Given the description of an element on the screen output the (x, y) to click on. 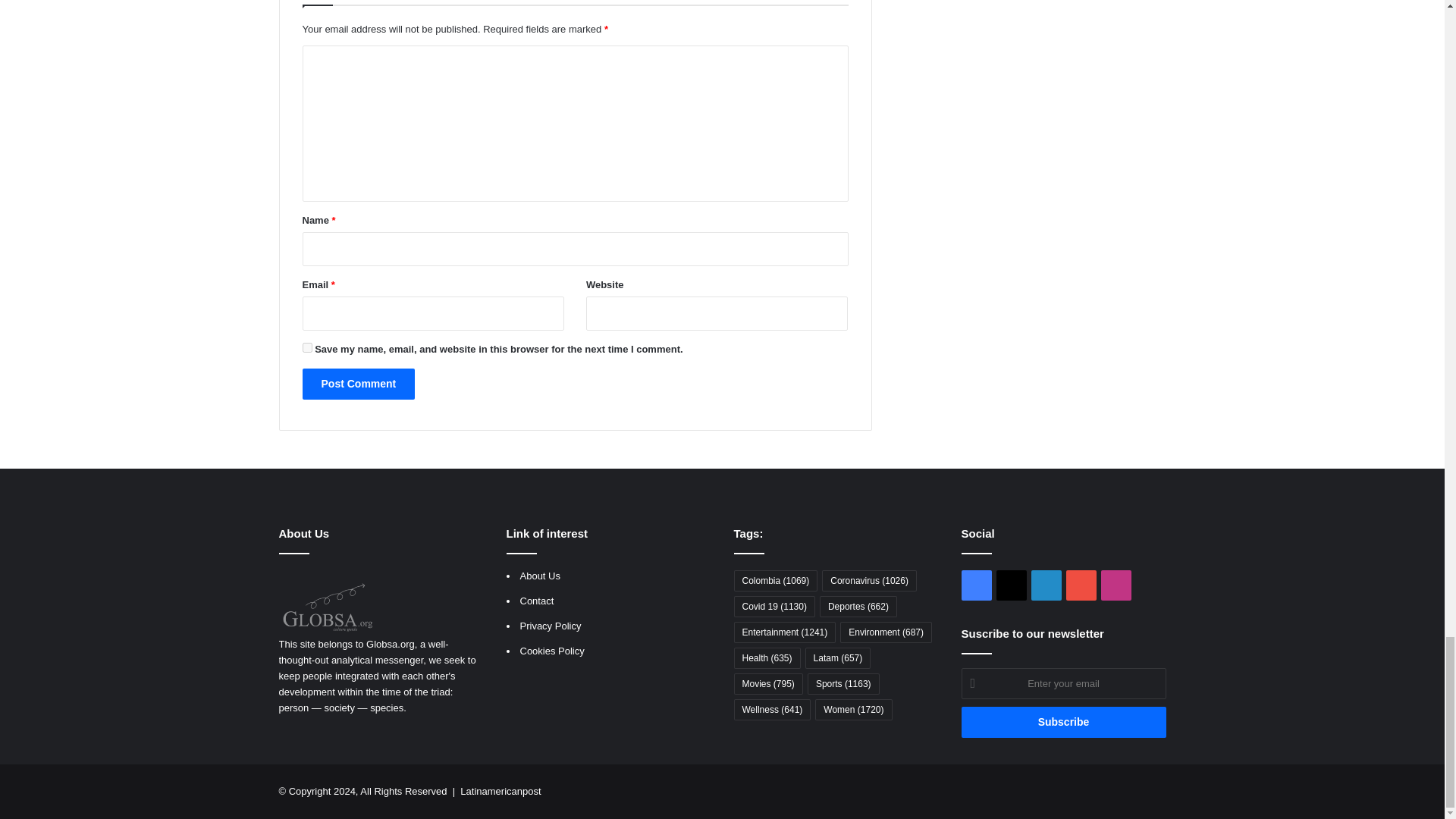
yes (306, 347)
Post Comment (357, 383)
Subscribe (1063, 721)
